Given the description of an element on the screen output the (x, y) to click on. 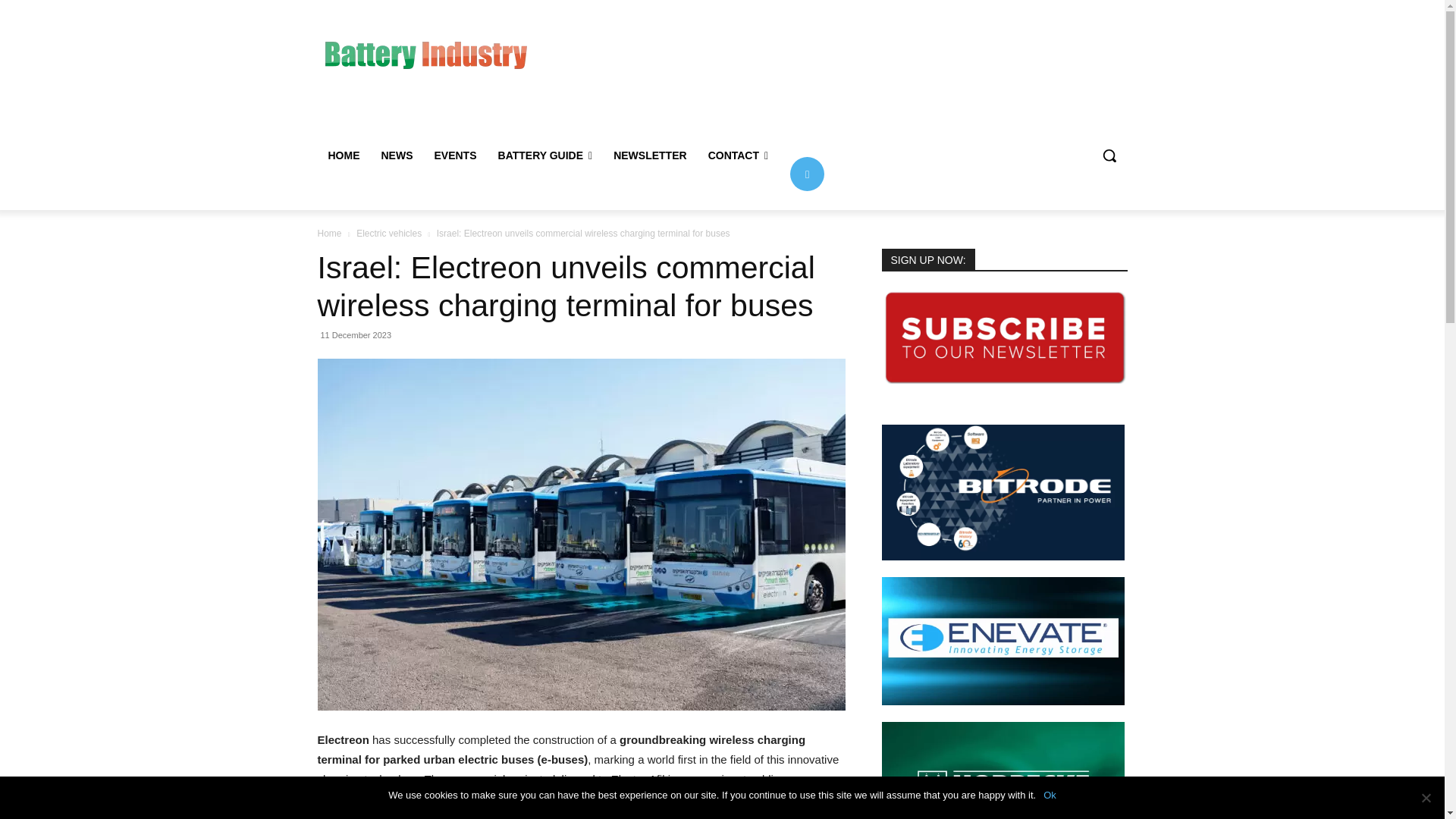
BATTERY GUIDE (545, 155)
EVENTS (454, 155)
HOME (343, 155)
View all posts in Electric vehicles (389, 233)
NEWS (396, 155)
Linkedin (807, 173)
